Given the description of an element on the screen output the (x, y) to click on. 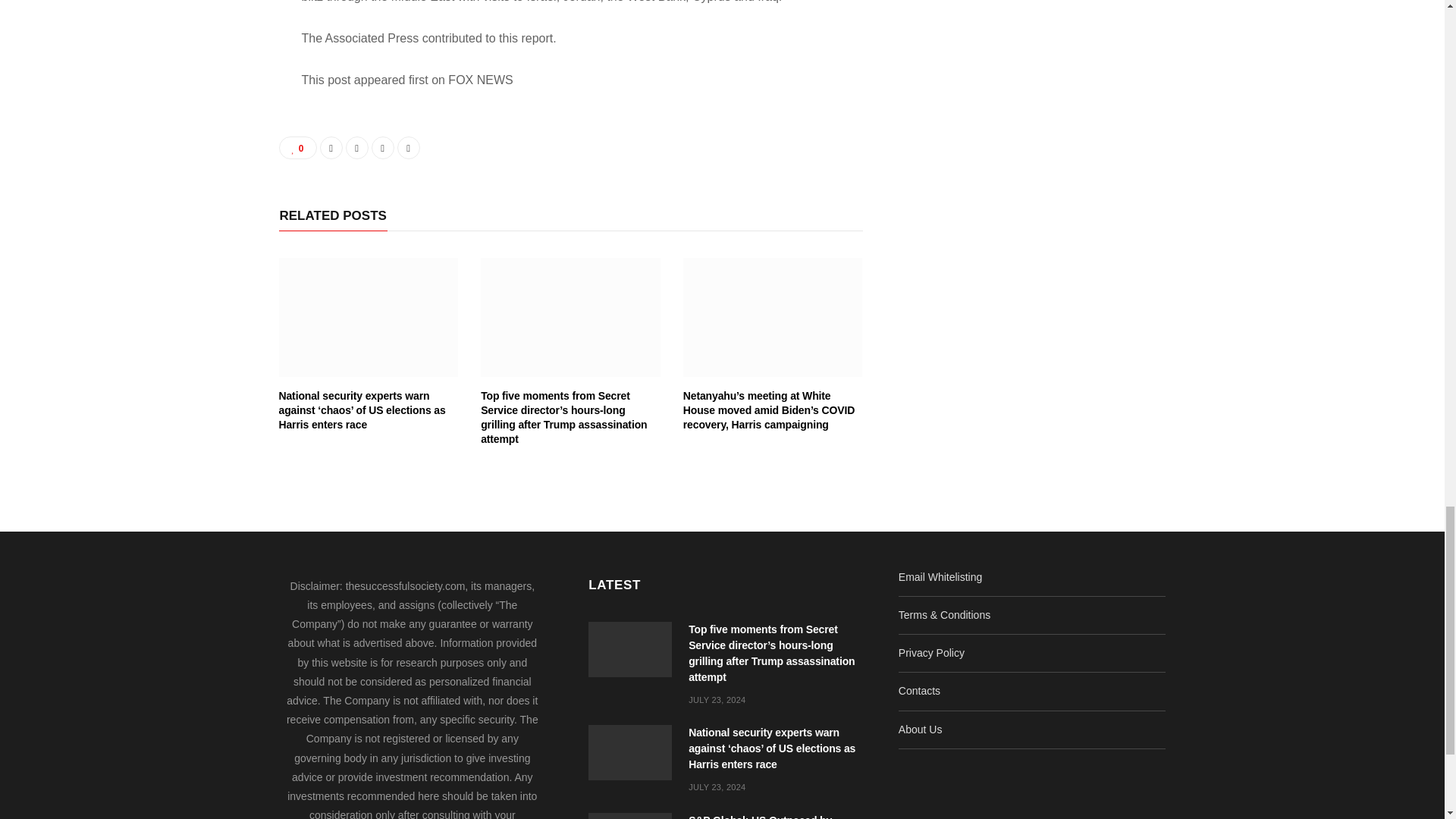
0 (298, 147)
